Given the description of an element on the screen output the (x, y) to click on. 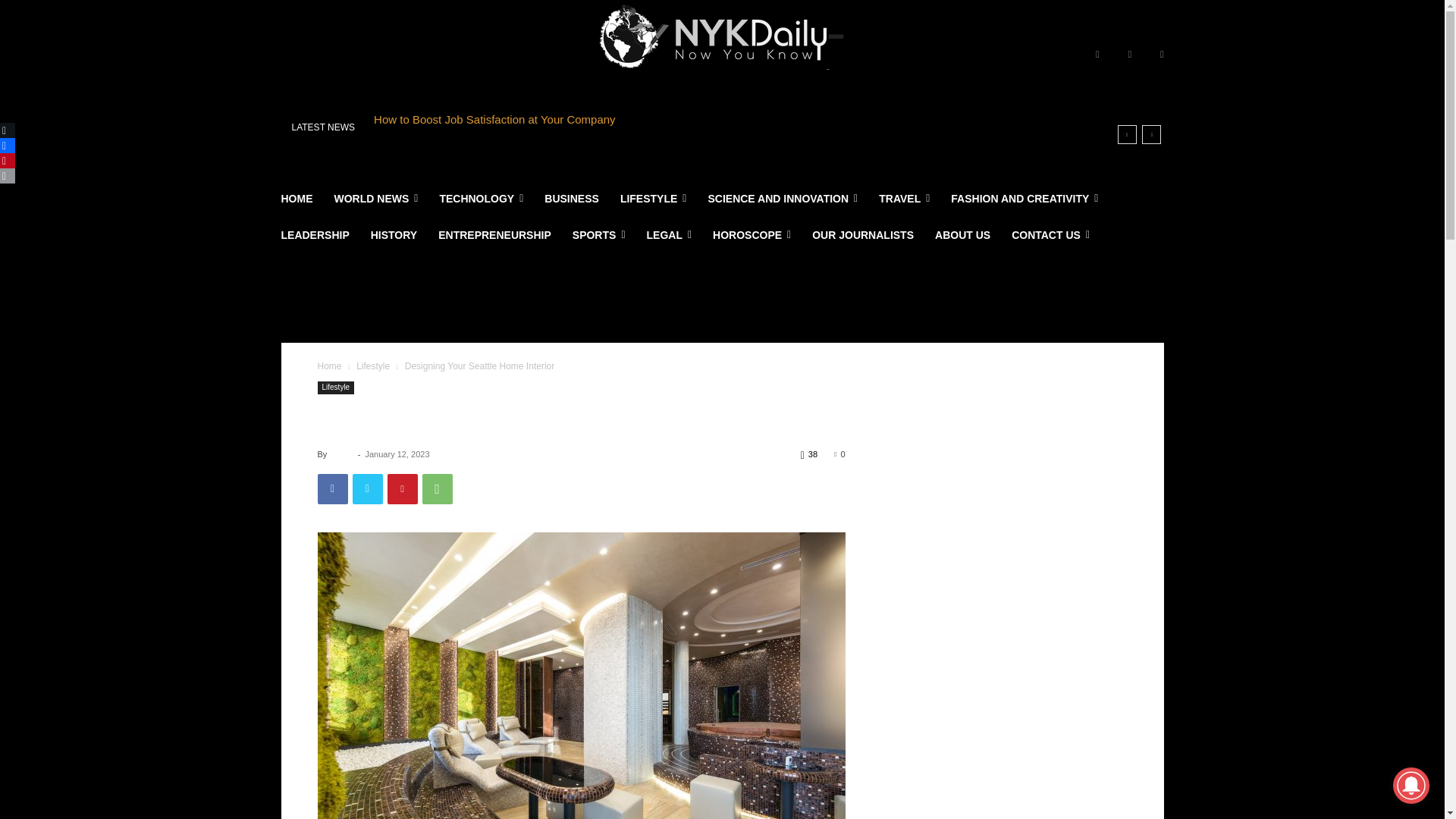
Instagram (1130, 54)
Twitter (1162, 54)
How to Boost Job Satisfaction at Your Company (494, 118)
Facebook (1096, 54)
